Given the description of an element on the screen output the (x, y) to click on. 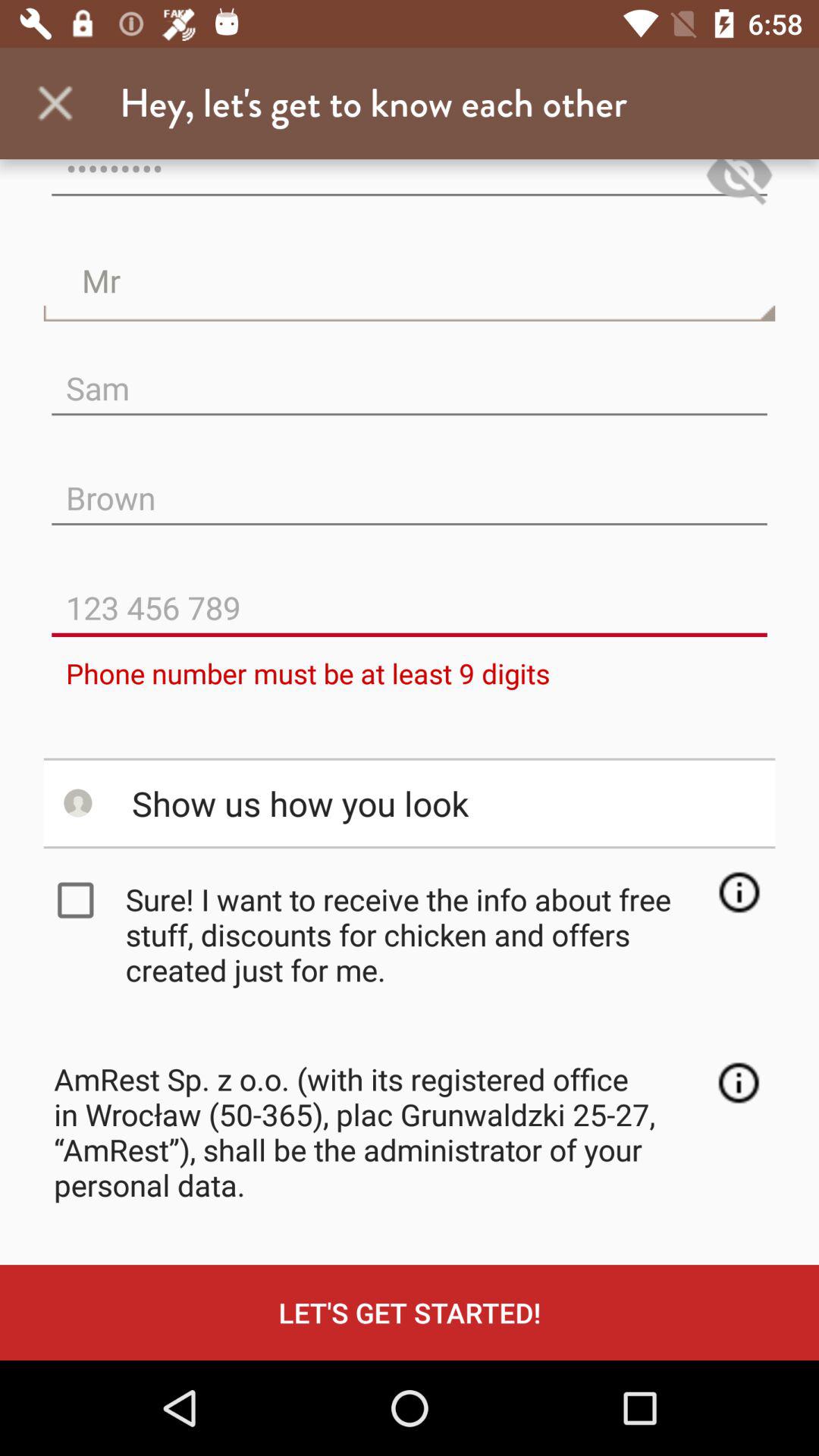
info button (738, 892)
